Given the description of an element on the screen output the (x, y) to click on. 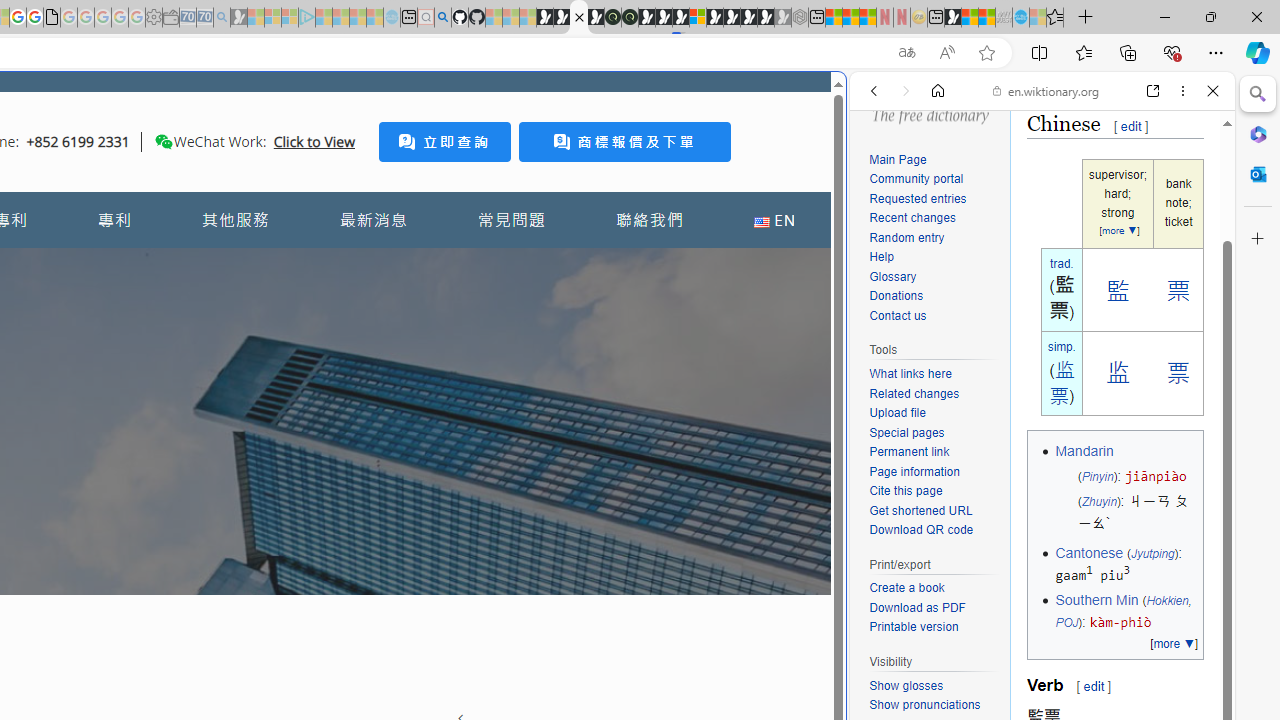
Cite this page (906, 490)
Play Cave FRVR in your browser | Games from Microsoft Start (663, 17)
Cheap Car Rentals - Save70.com - Sleeping (204, 17)
EN (774, 220)
Page information (914, 470)
Wiktionary (1034, 669)
bank note; ticket (1178, 204)
Search or enter web address (343, 191)
en.wiktionary.org (1046, 90)
